Given the description of an element on the screen output the (x, y) to click on. 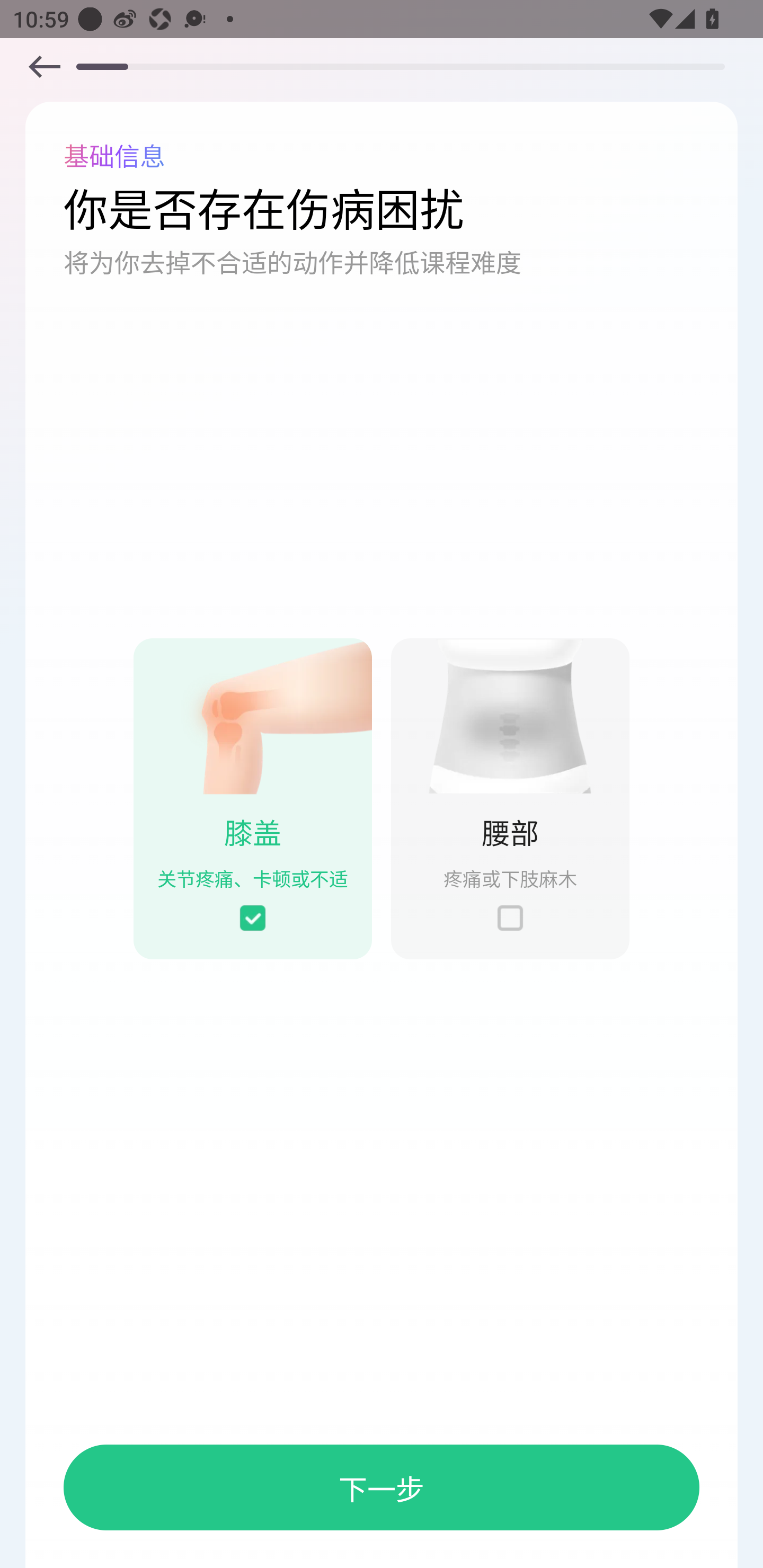
1 (44, 66)
1 膝盖 关节疼痛、卡顿或不适 1 (252, 797)
1 (252, 716)
1 腰部 疼痛或下肢麻木 1 (509, 797)
1 (509, 716)
1 (252, 917)
1 (510, 917)
下一步 (381, 1487)
